Given the description of an element on the screen output the (x, y) to click on. 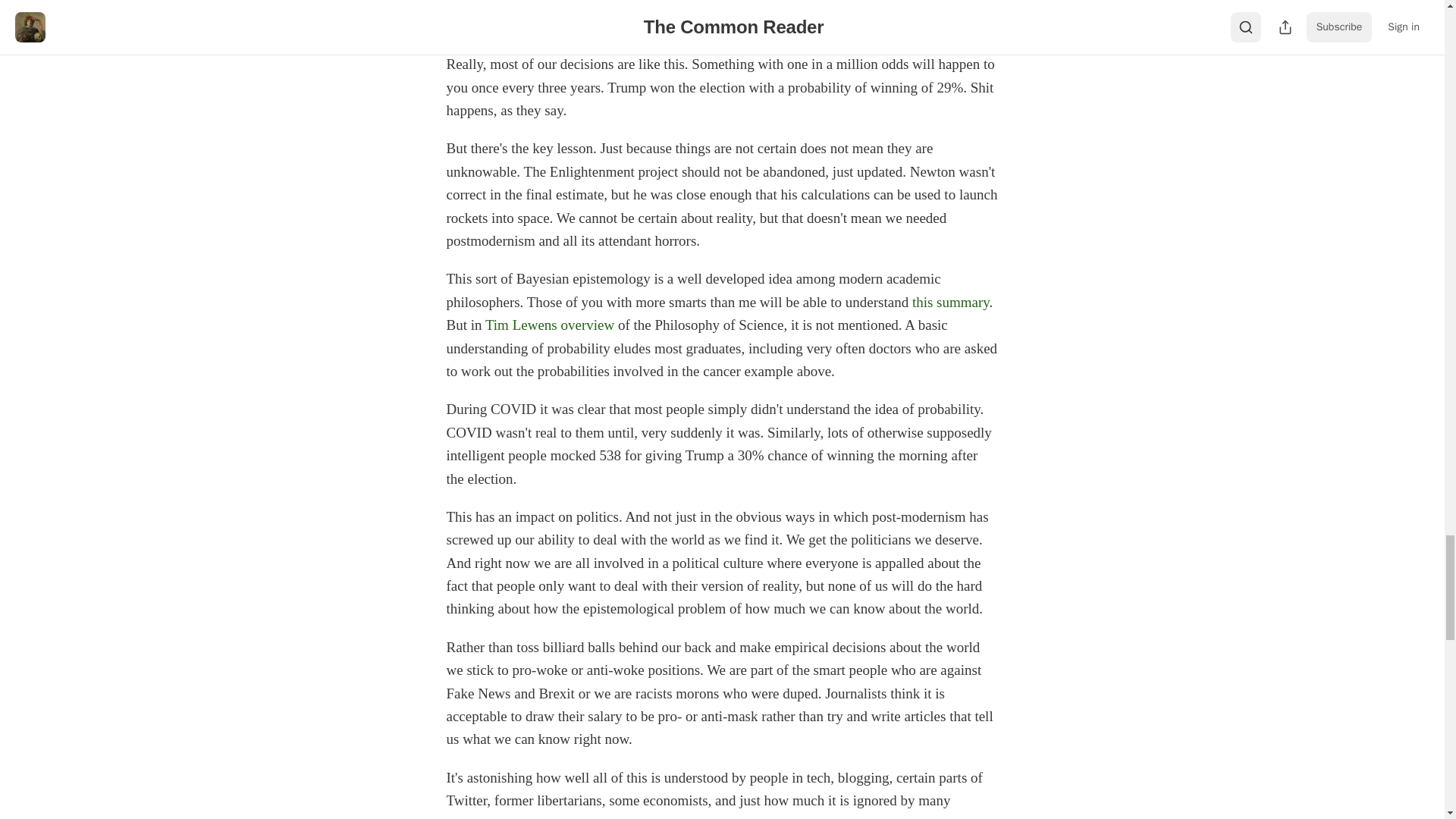
Tim Lewens overview (549, 324)
this summary (951, 302)
